Given the description of an element on the screen output the (x, y) to click on. 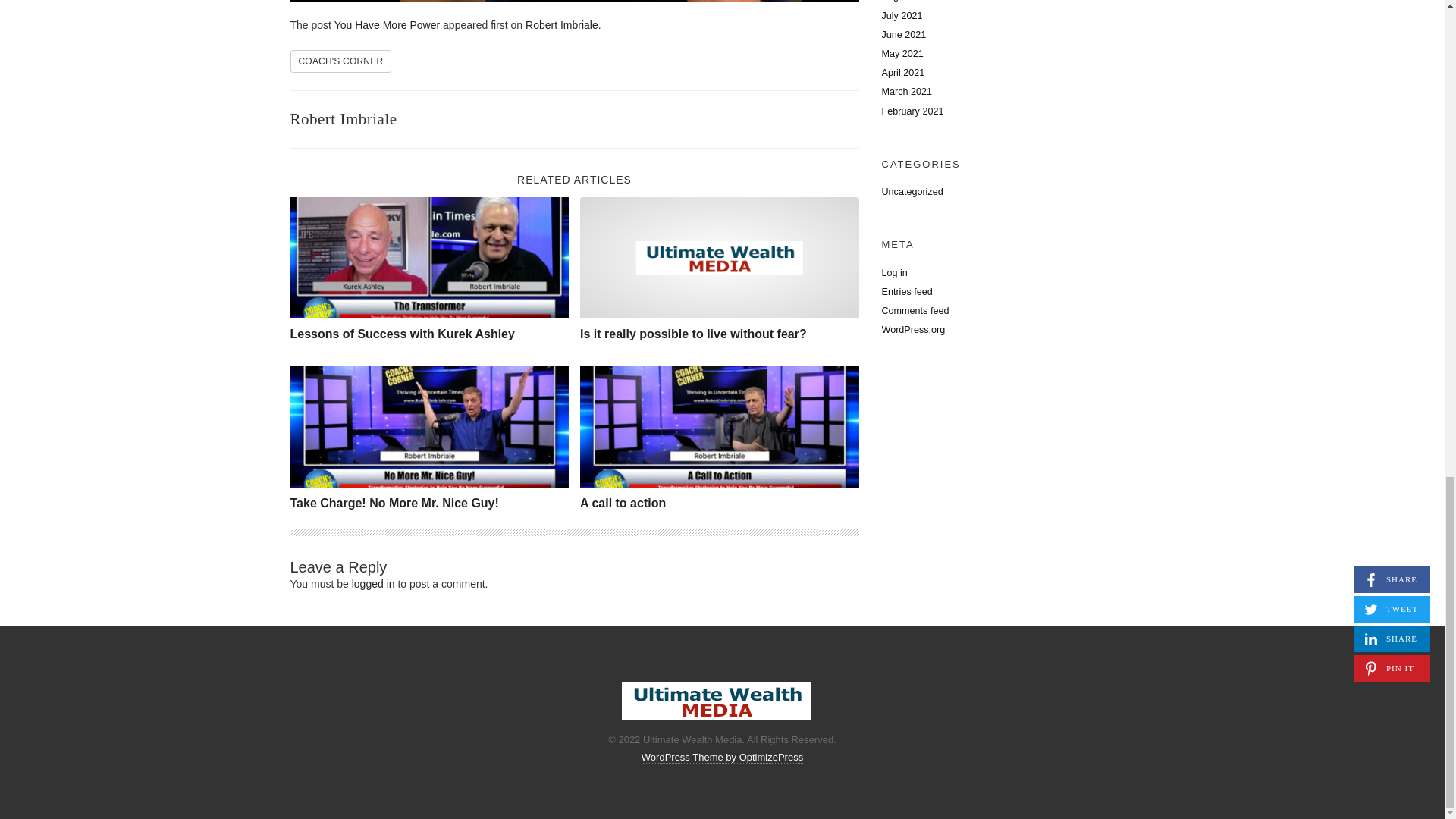
Take Charge! No More Mr. Nice Guy! (429, 426)
A call to action (719, 426)
A call to action (622, 502)
Is it really possible to live without fear? (692, 333)
You Have More Power (387, 24)
Lessons of Success with Kurek Ashley (401, 333)
Ultimate Wealth Media (715, 700)
COACH'S CORNER (340, 60)
Coach's Corner Tag (340, 60)
Ultimate Wealth Media (718, 257)
